Given the description of an element on the screen output the (x, y) to click on. 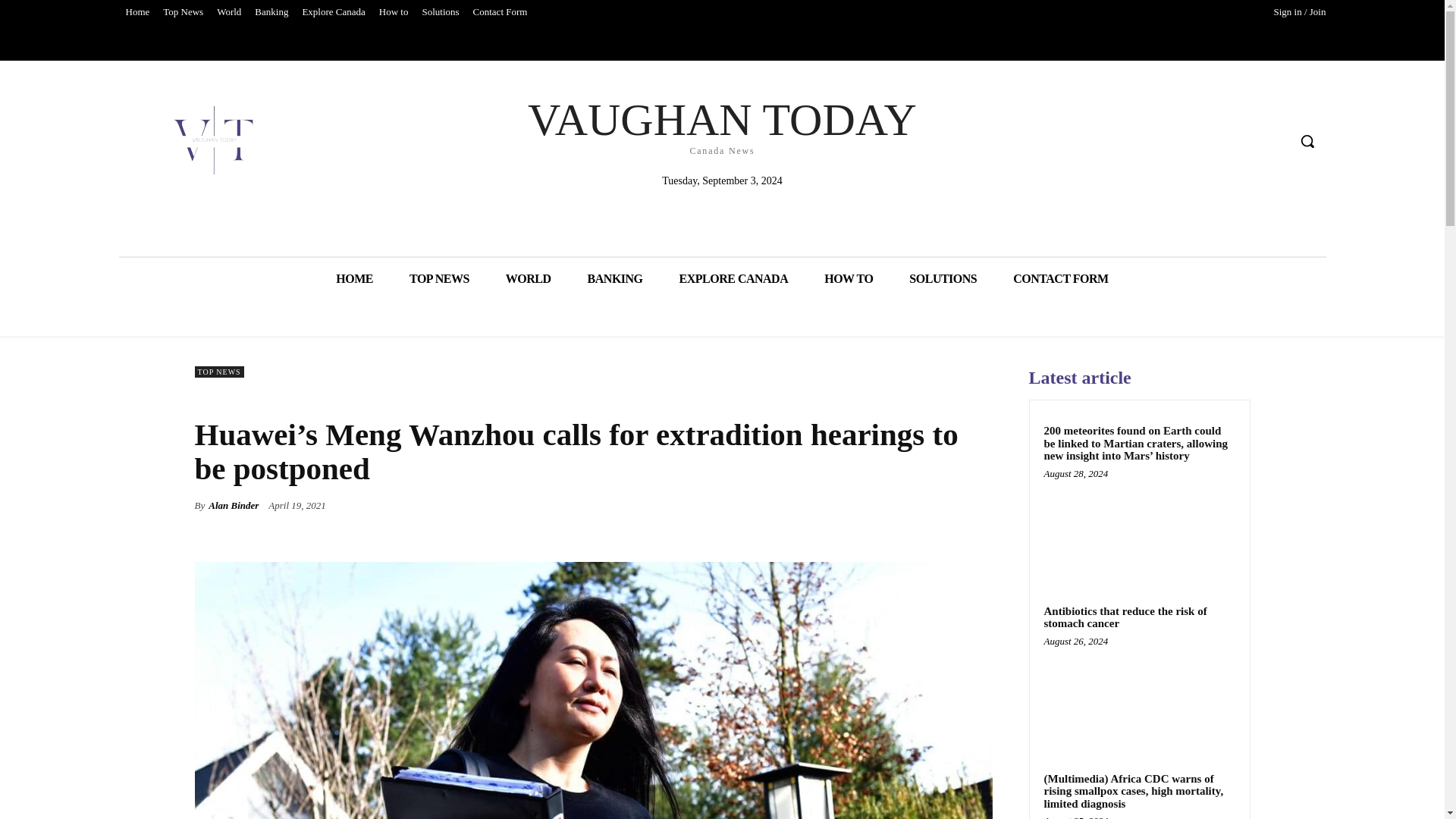
TOP NEWS (439, 278)
Top News (182, 12)
EXPLORE CANADA (733, 278)
WORLD (721, 124)
Contact Form (528, 278)
World (499, 12)
BANKING (228, 12)
HOME (615, 278)
Explore Canada (354, 278)
